Given the description of an element on the screen output the (x, y) to click on. 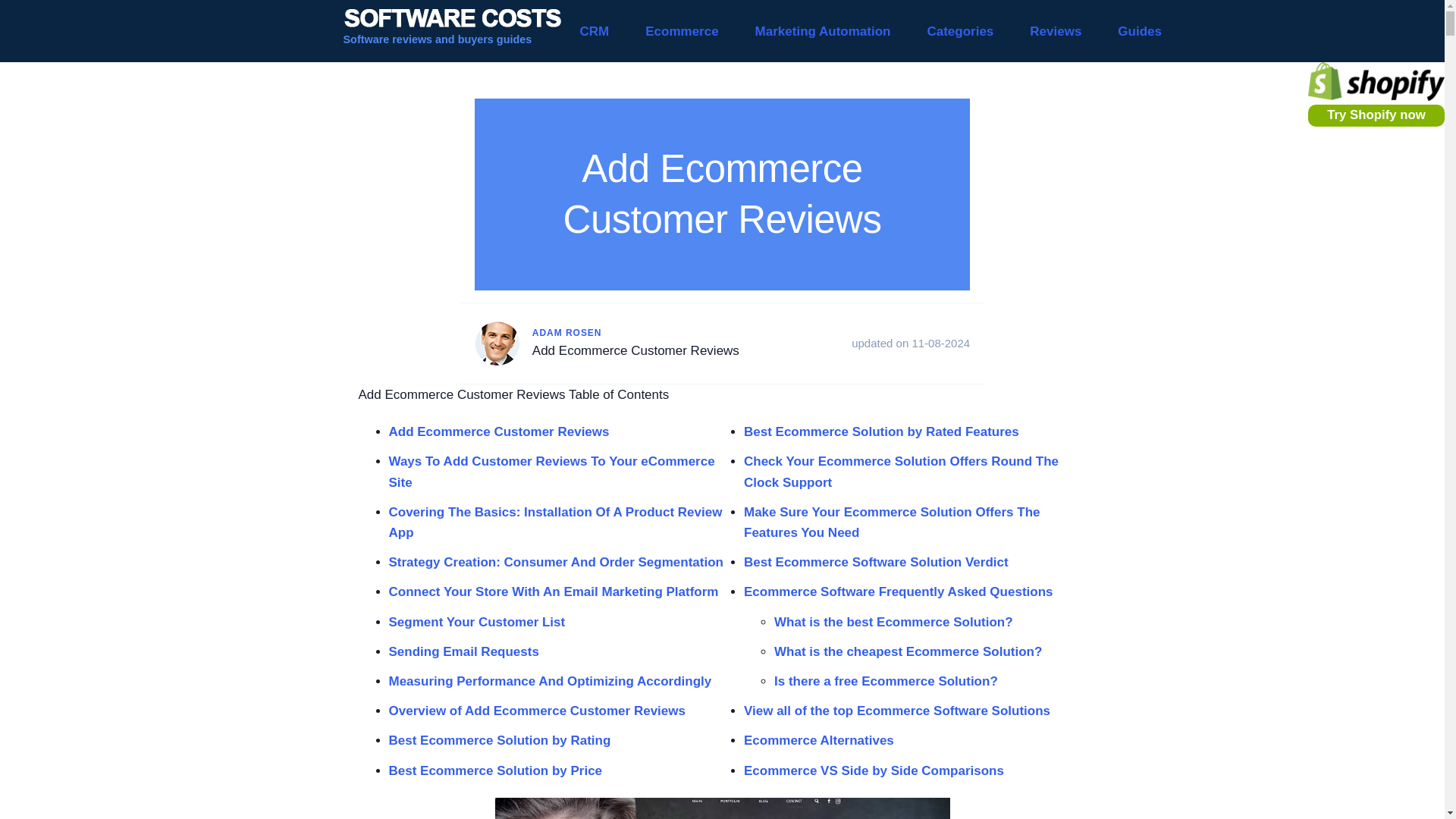
Adam Rosen Technology Writer (496, 343)
Software reviews and buyers guides (451, 31)
CRM (593, 31)
Add Ecommerce Customer Reviews 2023 (722, 808)
